Given the description of an element on the screen output the (x, y) to click on. 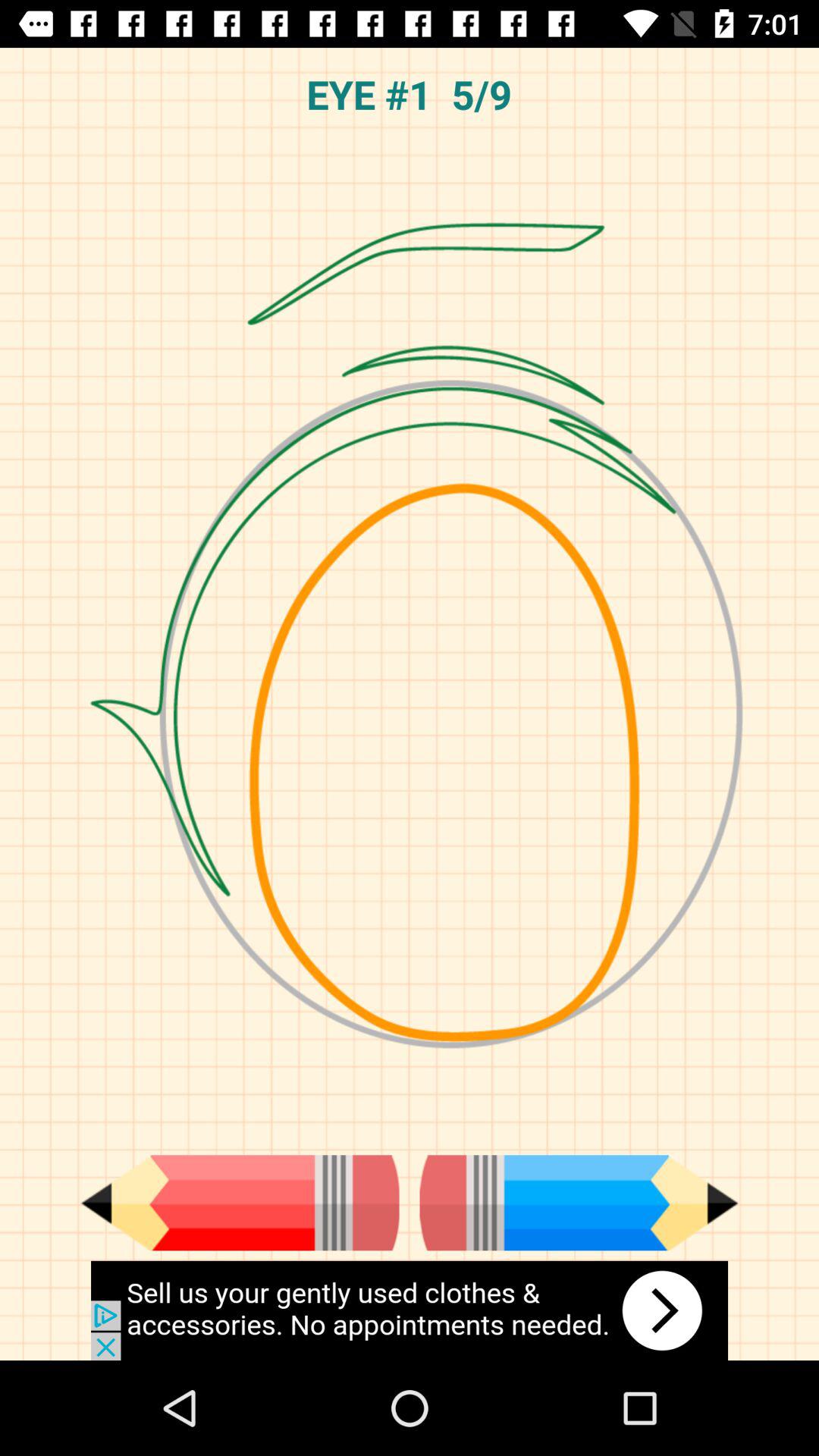
draw with the pencil (239, 1202)
